Given the description of an element on the screen output the (x, y) to click on. 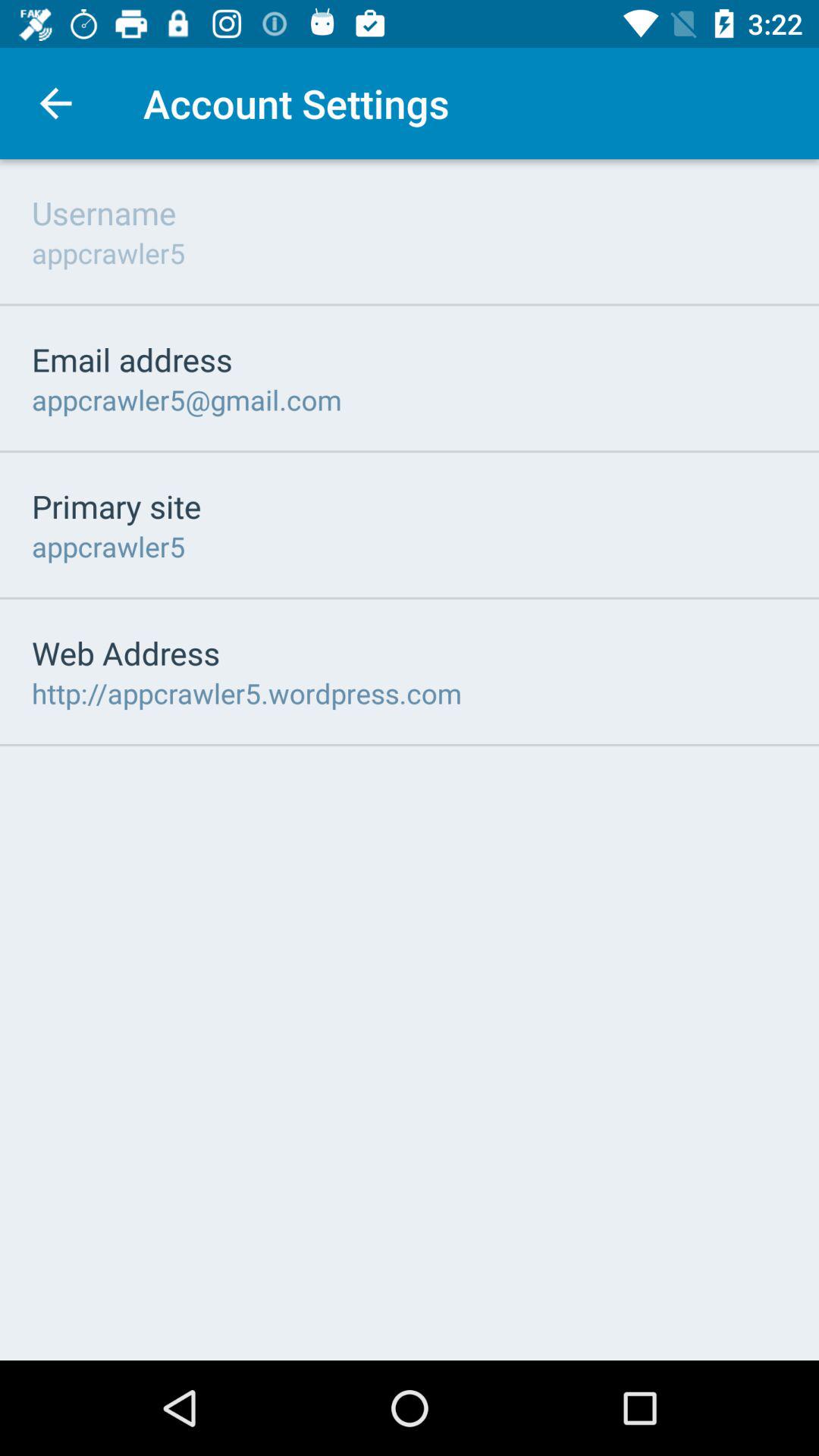
press the username (103, 212)
